Given the description of an element on the screen output the (x, y) to click on. 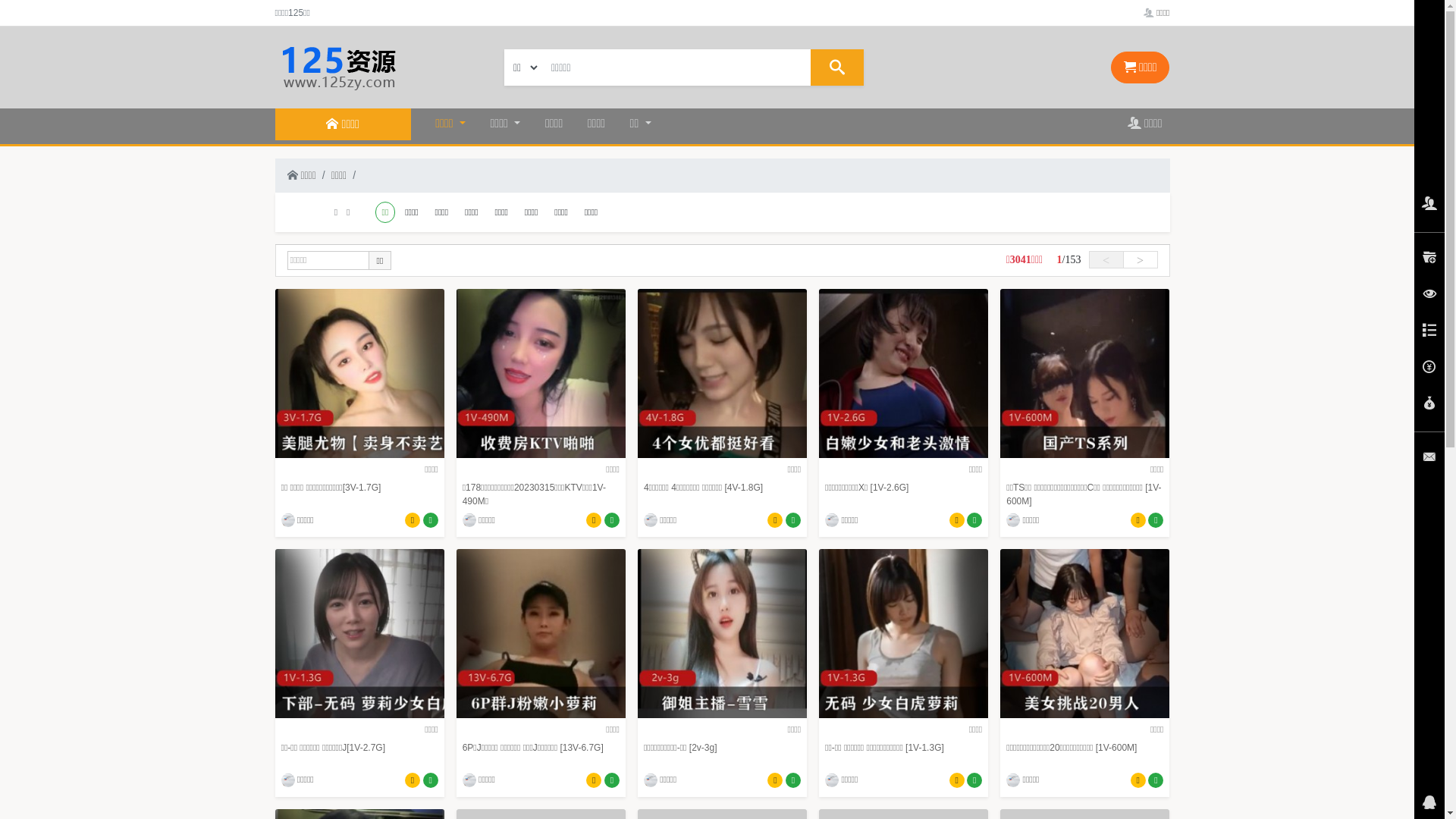
> Element type: text (1139, 259)
< Element type: text (1105, 259)
